Given the description of an element on the screen output the (x, y) to click on. 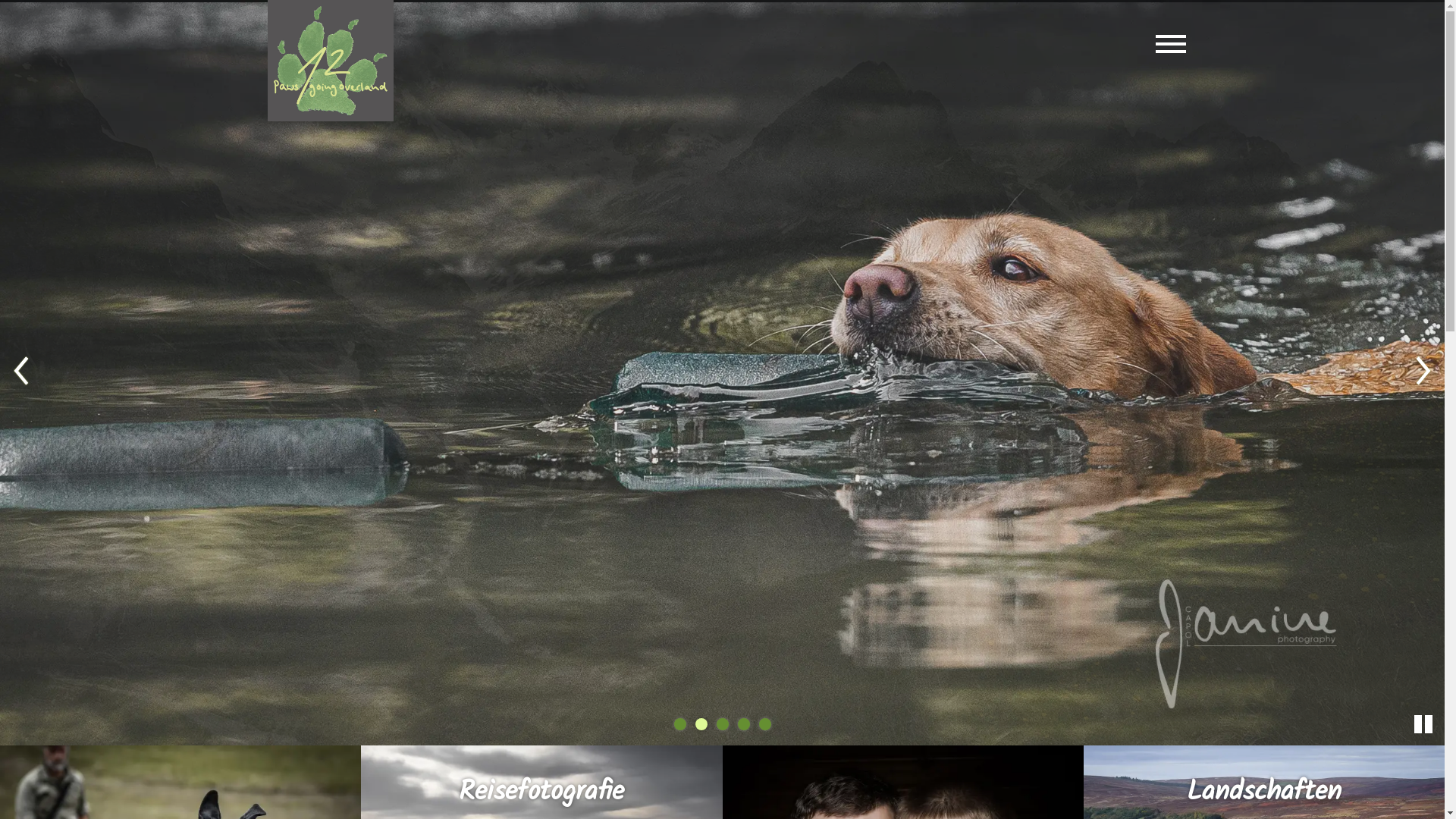
Zur Startseite Element type: hover (329, 60)
